Given the description of an element on the screen output the (x, y) to click on. 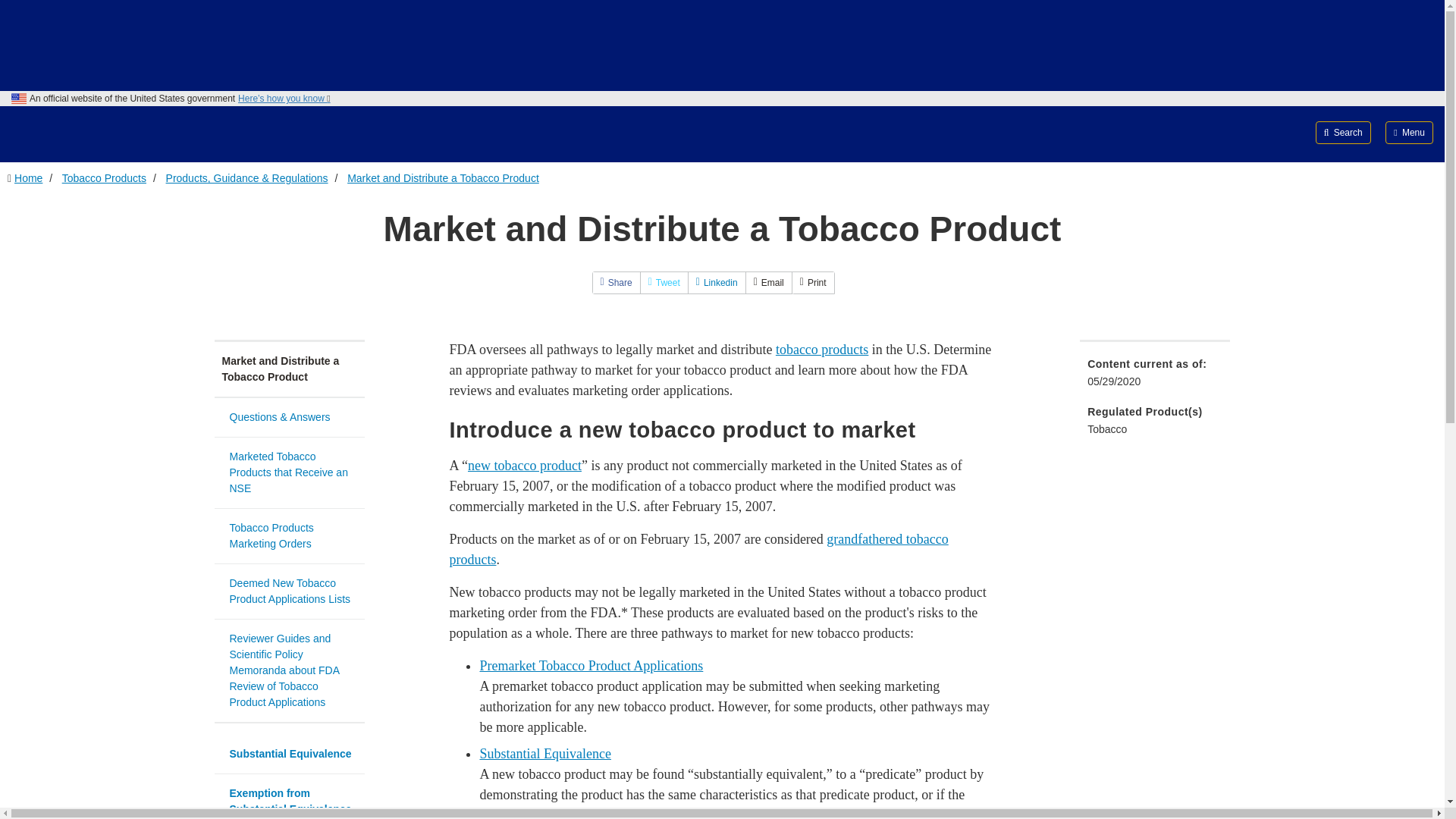
Print this page (813, 282)
Premarket Tobacco Product Applications (591, 665)
Grandfathered Tobacco Products (697, 549)
CTP Glossary (523, 465)
Substantial Equivalence (544, 753)
  Search (1343, 132)
  Menu (1409, 132)
